Given the description of an element on the screen output the (x, y) to click on. 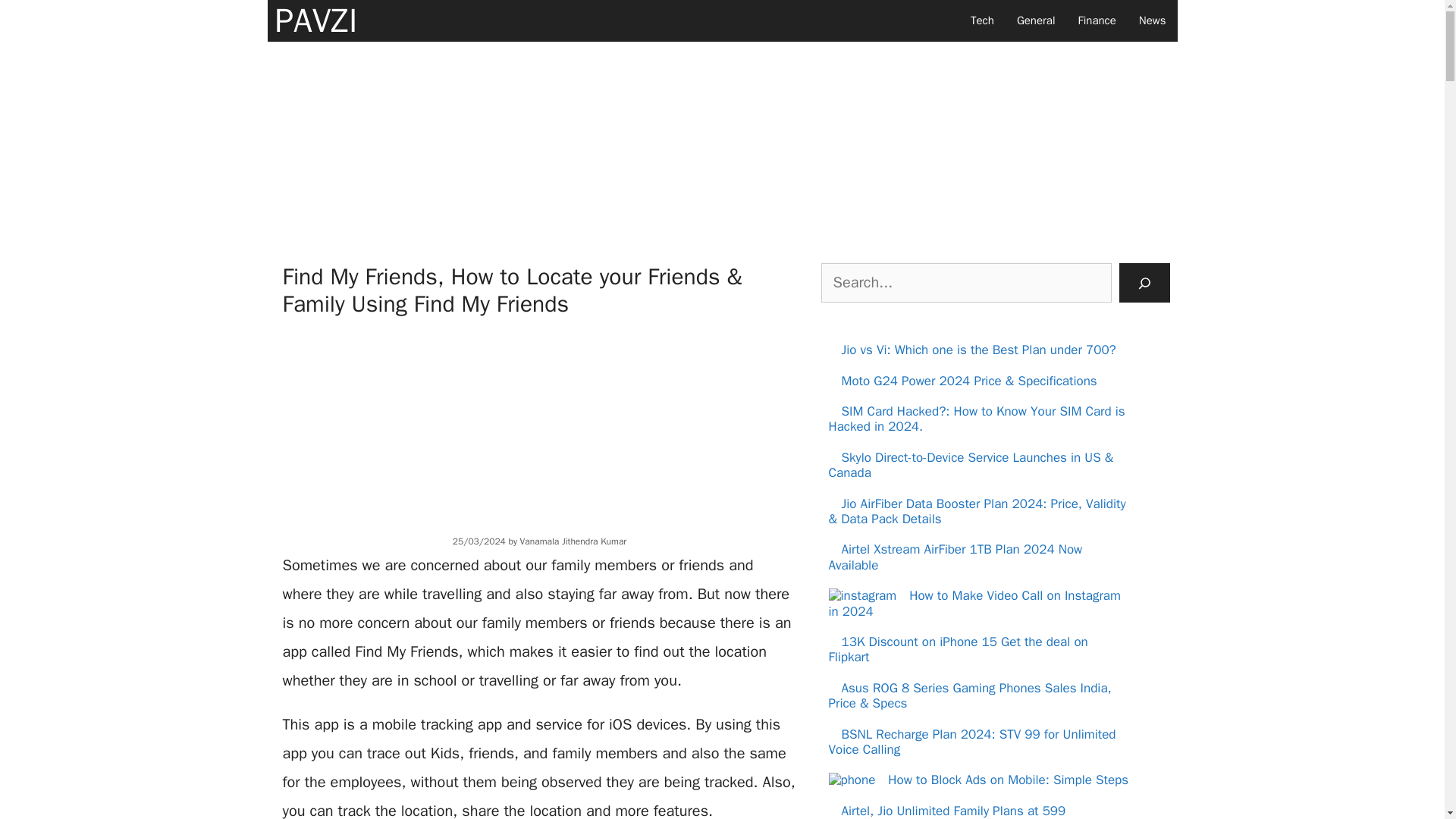
View all posts by Vanamala Jithendra Kumar (573, 541)
PAVZI (315, 20)
Jio vs Vi: Which one is the Best Plan under 700? (978, 349)
Advertisement (539, 423)
Tech (982, 20)
Vanamala Jithendra Kumar (573, 541)
Finance (1096, 20)
News (1151, 20)
General (1036, 20)
